Given the description of an element on the screen output the (x, y) to click on. 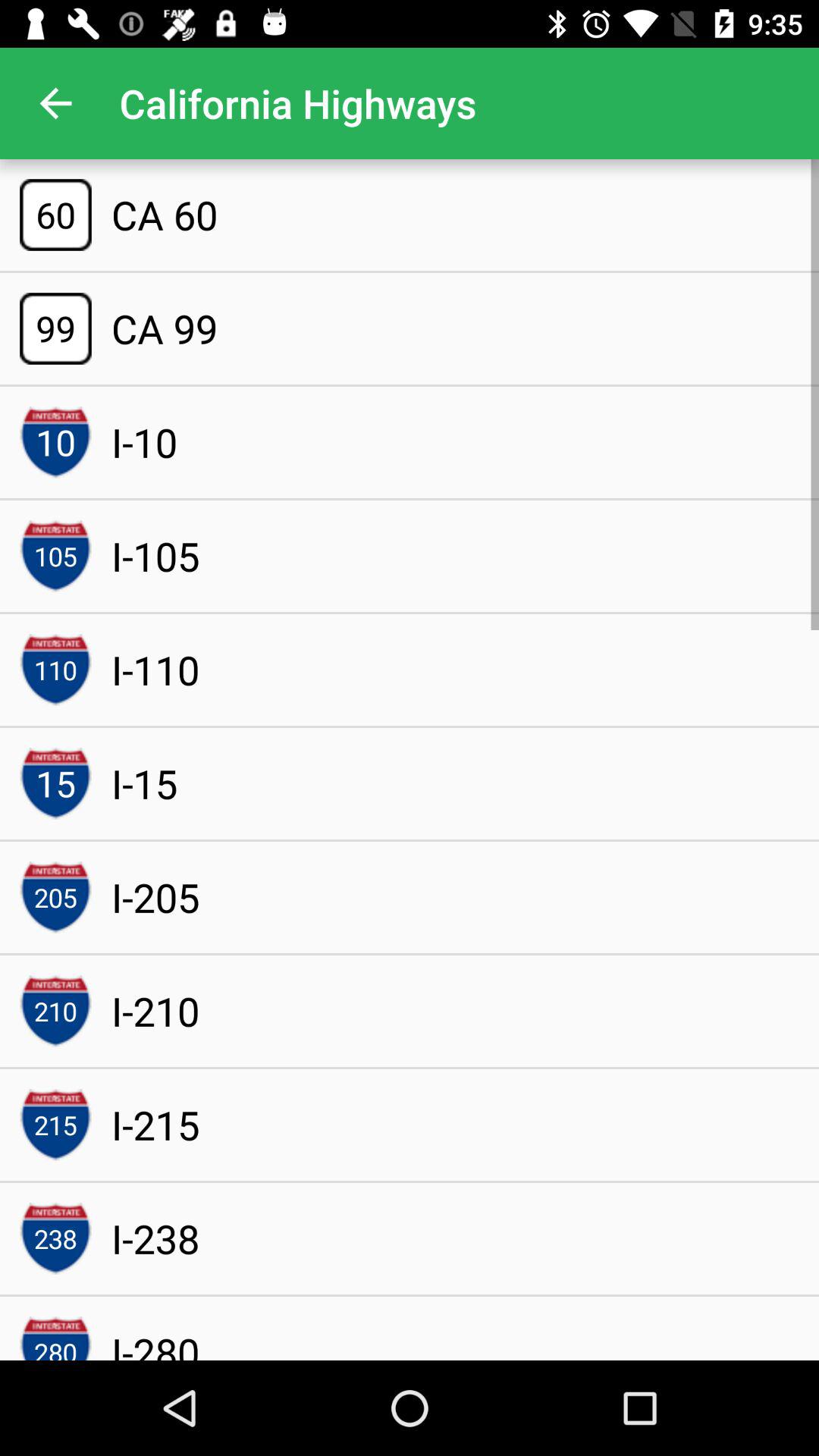
tap item above the i-15 icon (155, 669)
